Given the description of an element on the screen output the (x, y) to click on. 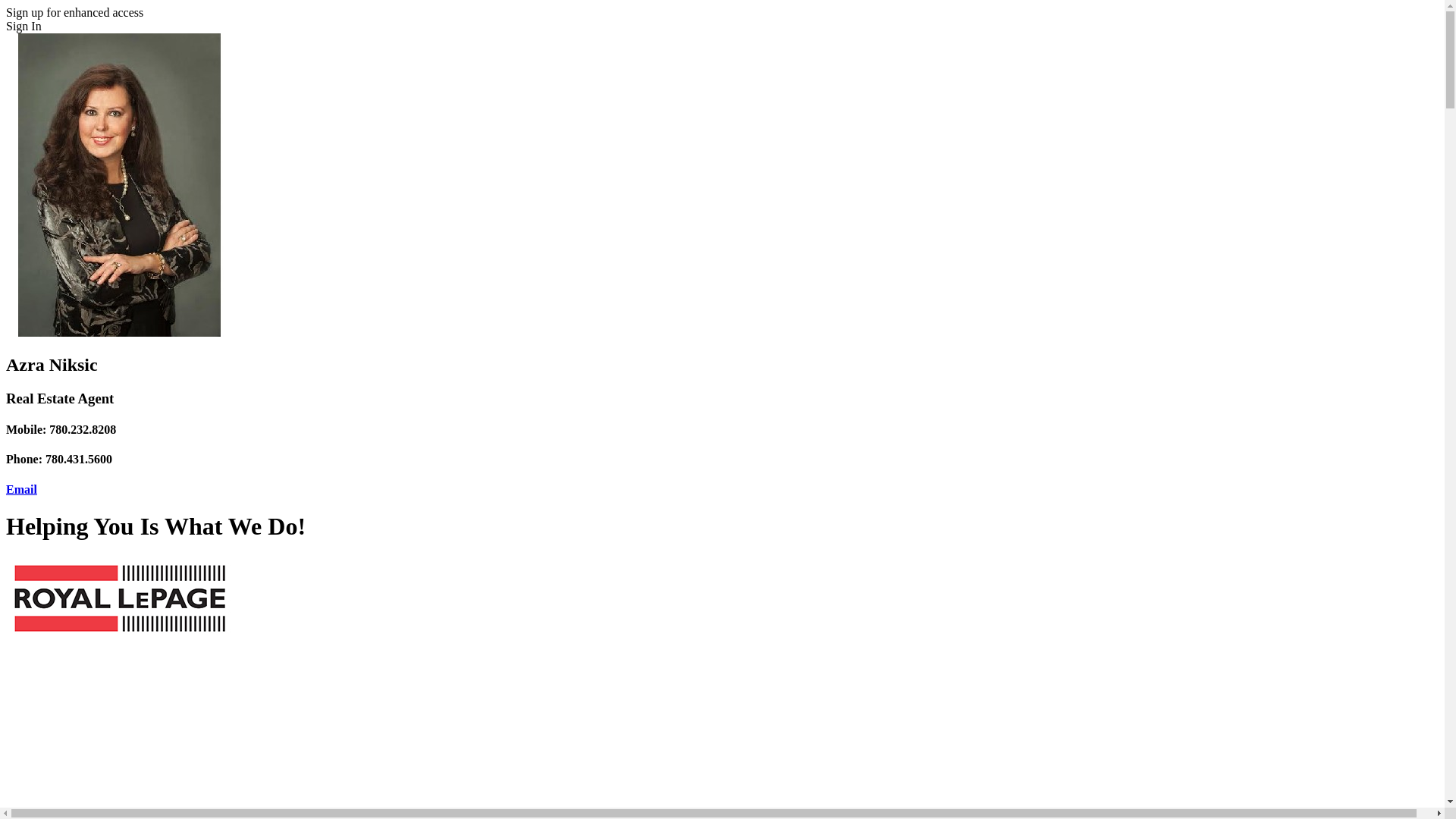
Home Element type: hover (119, 635)
Azra Niksic Element type: hover (119, 184)
Email Element type: text (21, 489)
